Given the description of an element on the screen output the (x, y) to click on. 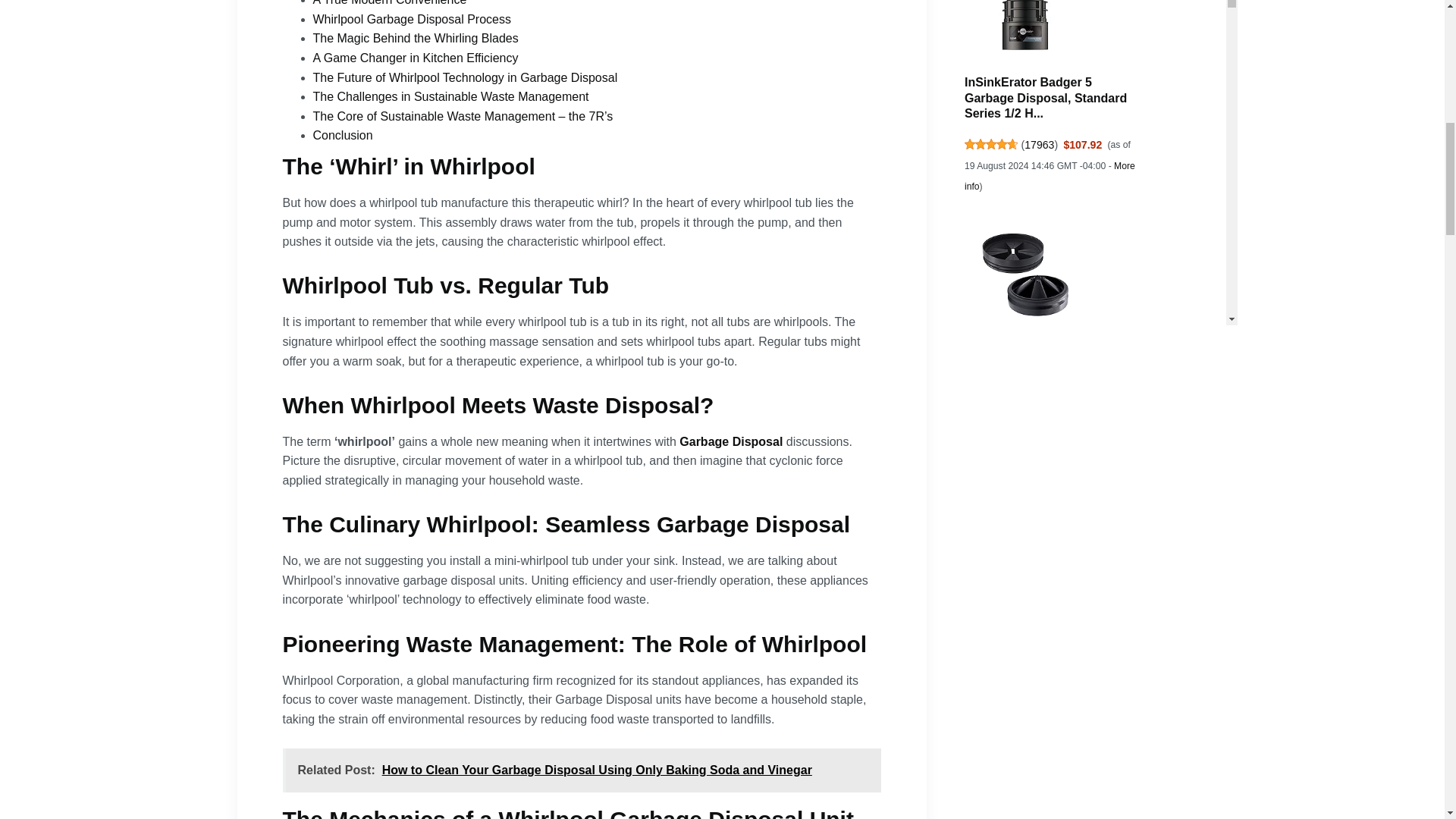
Conclusion (342, 134)
A Game Changer in Kitchen Efficiency  (417, 57)
The Magic Behind the Whirling Blades  (417, 38)
The Future of Whirlpool Technology in Garbage Disposal  (466, 77)
A True Modern Convenience  (390, 2)
Whirlpool Garbage Disposal Process  (413, 19)
The Challenges in Sustainable Waste Management (450, 96)
Garbage Disposal (731, 440)
